Given the description of an element on the screen output the (x, y) to click on. 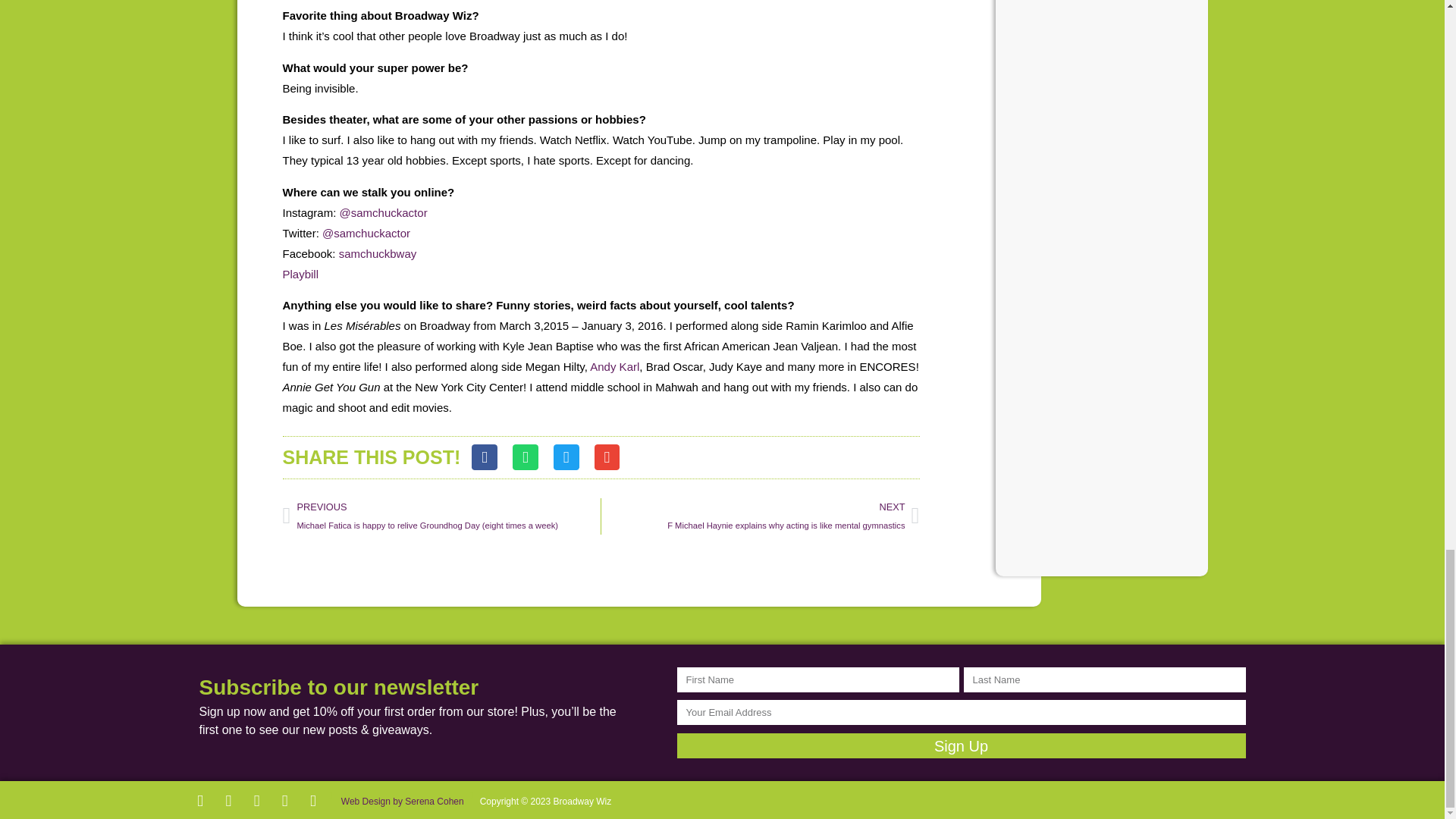
Playbill (300, 273)
Sign Up (960, 745)
samchuckbway (377, 253)
 Web Design by Serena Cohen (400, 793)
Andy Karl (614, 366)
